Given the description of an element on the screen output the (x, y) to click on. 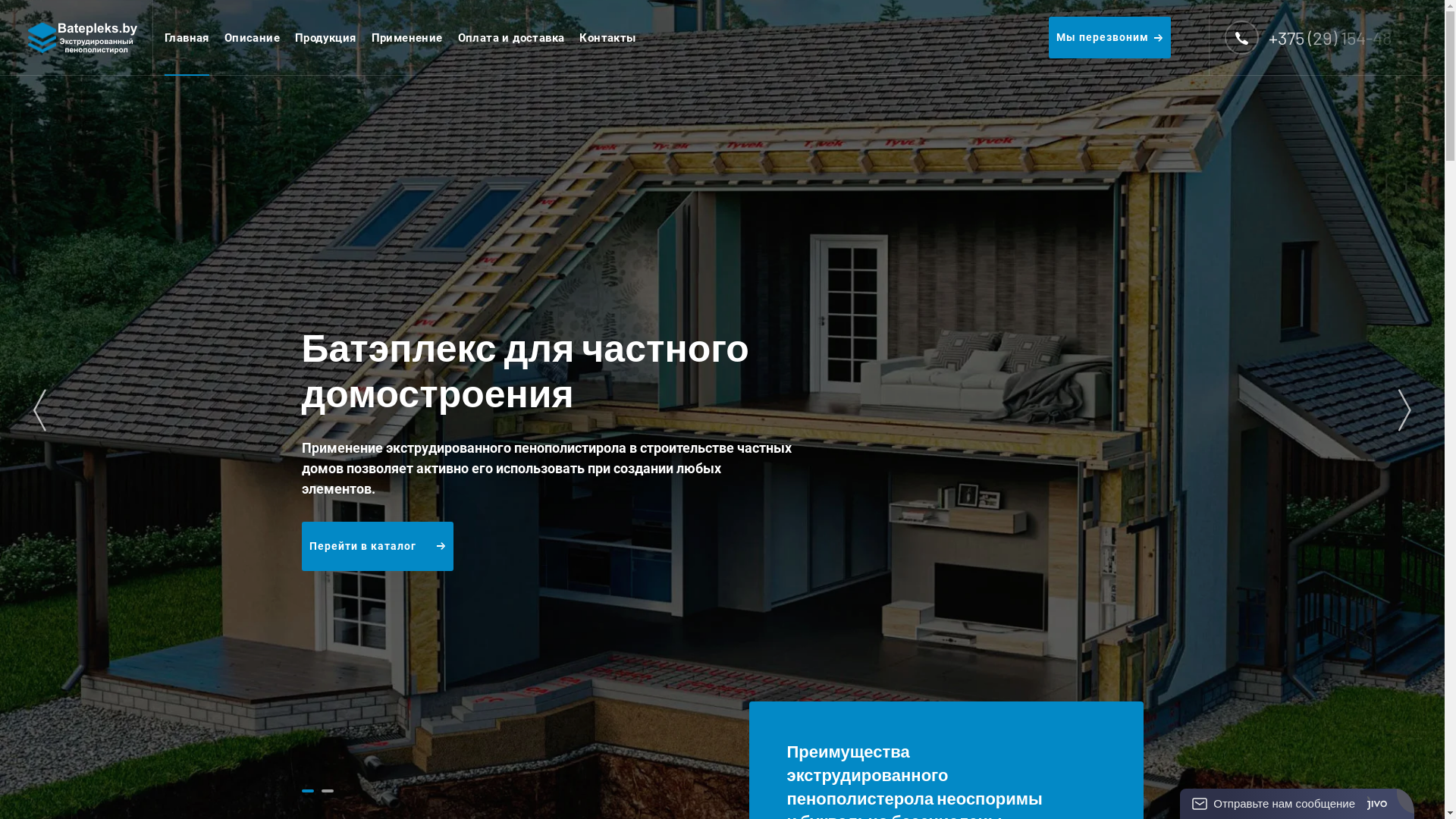
+375 (29) 154-48-3 Element type: text (1343, 37)
Previous Element type: text (39, 409)
Next Element type: text (1404, 409)
